Given the description of an element on the screen output the (x, y) to click on. 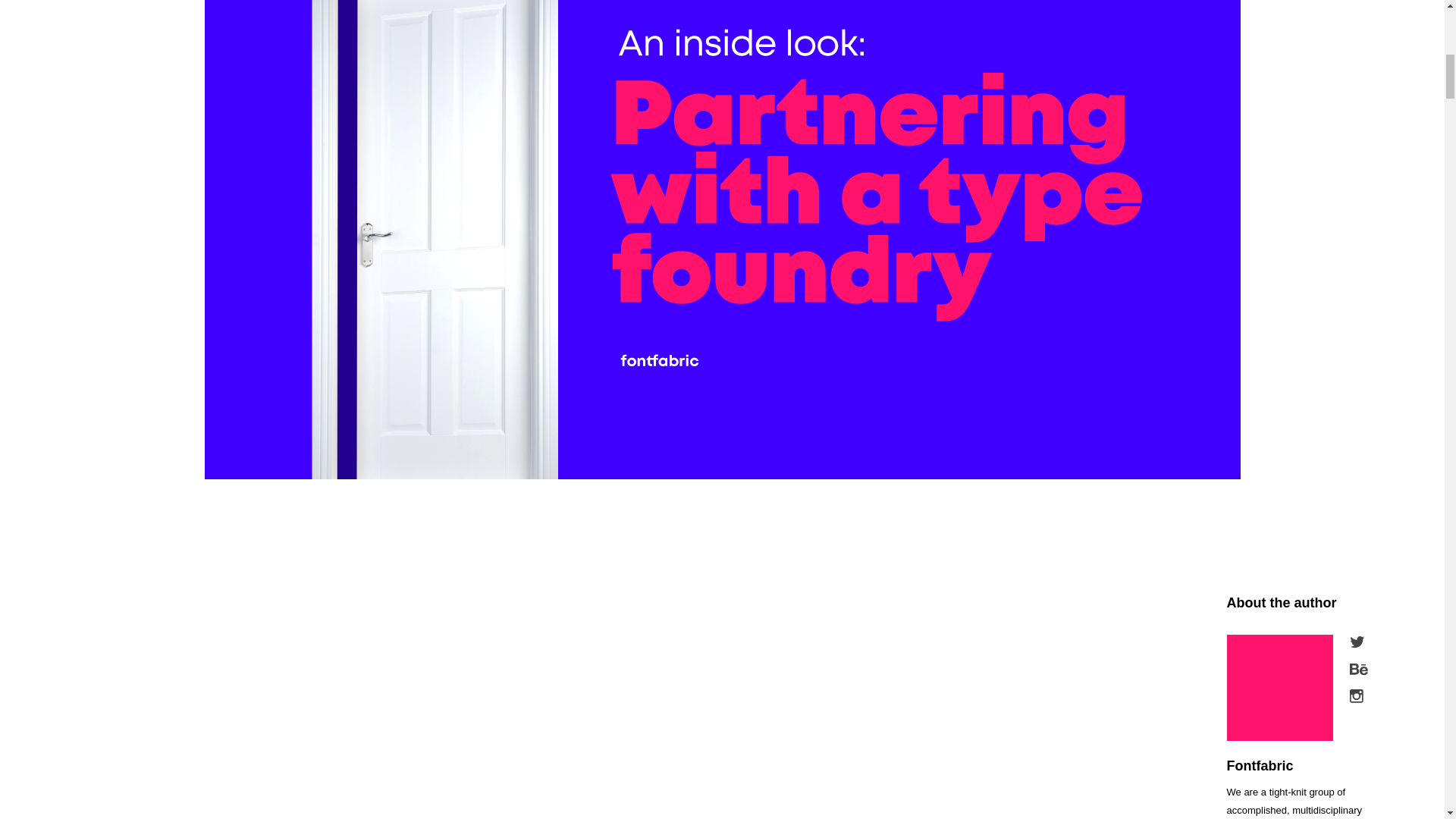
Fontfabric (1260, 765)
